Given the description of an element on the screen output the (x, y) to click on. 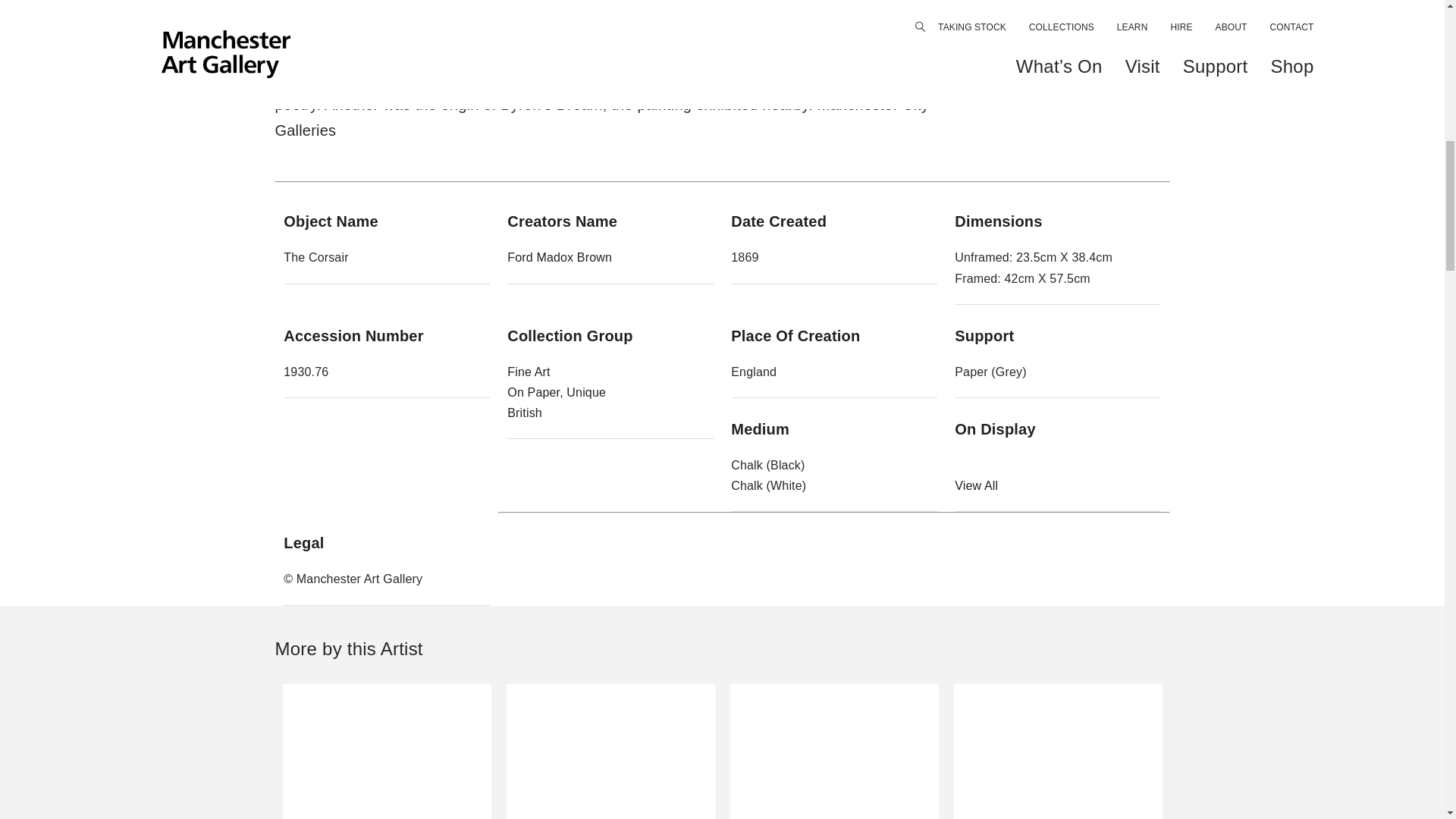
On Paper, Unique (1057, 751)
View All (555, 391)
Fine Art (976, 485)
British (528, 371)
Ford Madox Brown (523, 412)
